Given the description of an element on the screen output the (x, y) to click on. 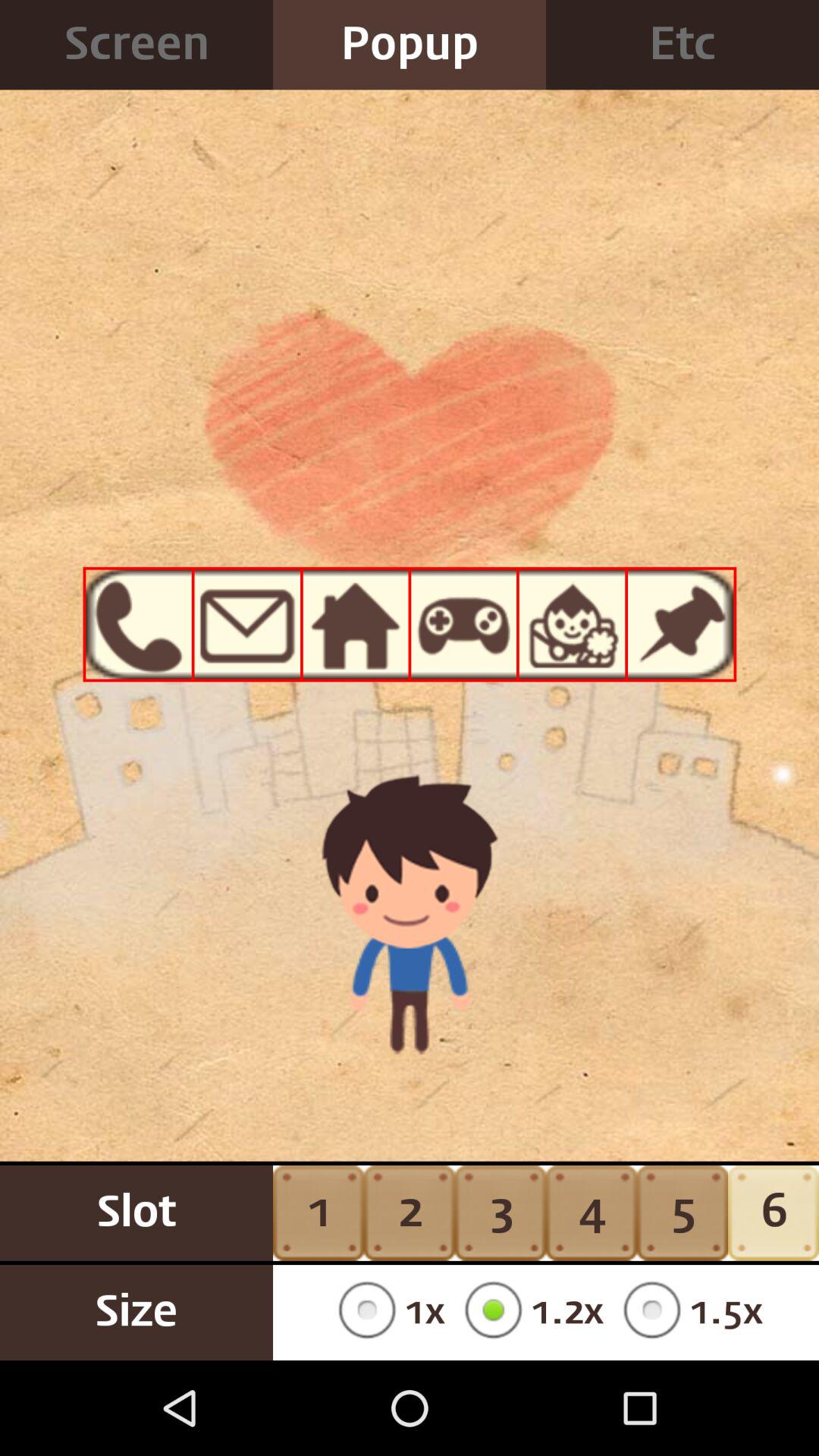
press icon next to 1 item (409, 1212)
